Given the description of an element on the screen output the (x, y) to click on. 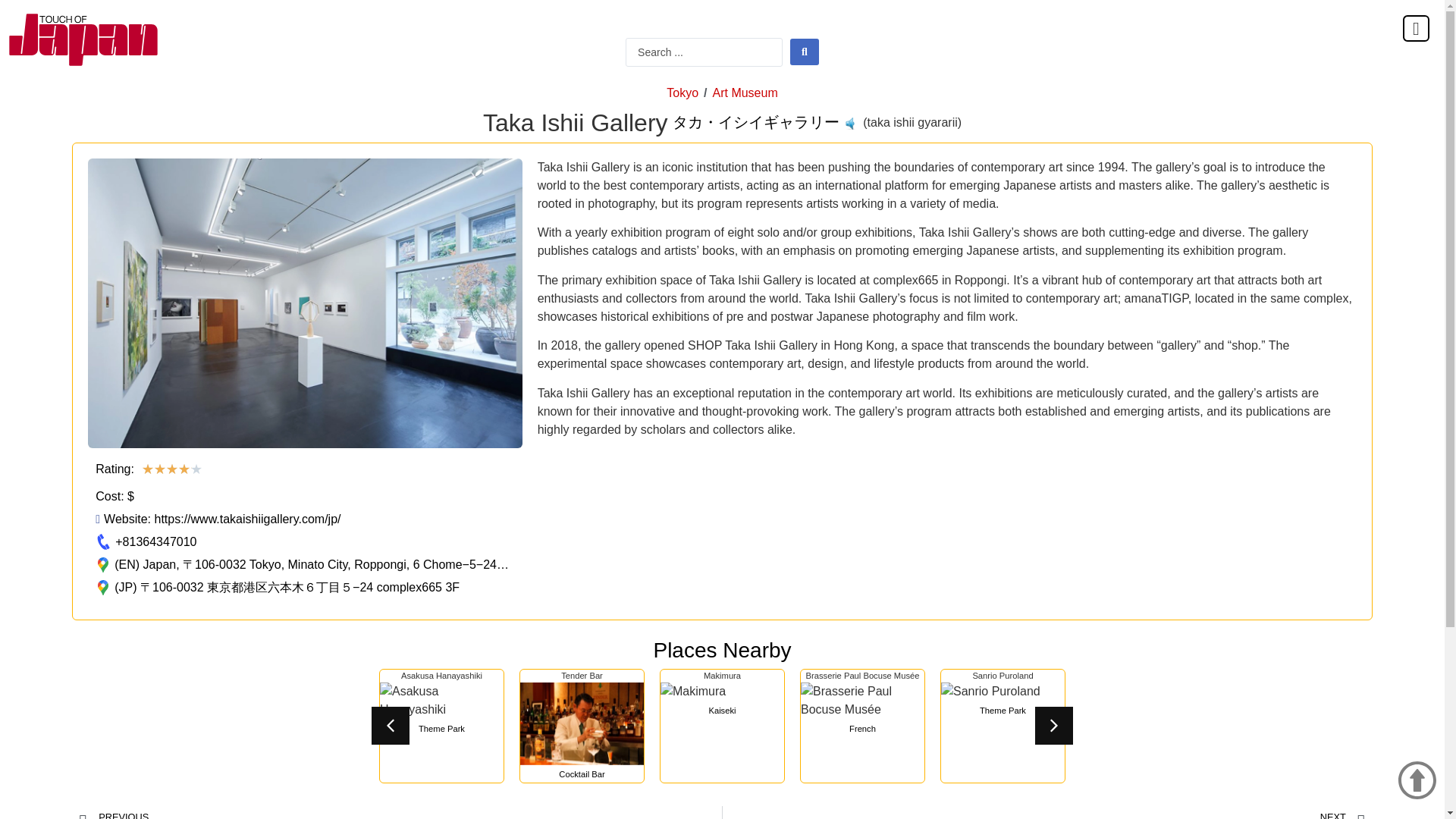
Cocktail Bar (581, 774)
Art Museum (743, 93)
French (862, 727)
Theme Park (1002, 709)
Taka Ishii Gallery 1 (304, 302)
Kaiseki (722, 709)
Tokyo (681, 93)
Theme Park (441, 727)
